Given the description of an element on the screen output the (x, y) to click on. 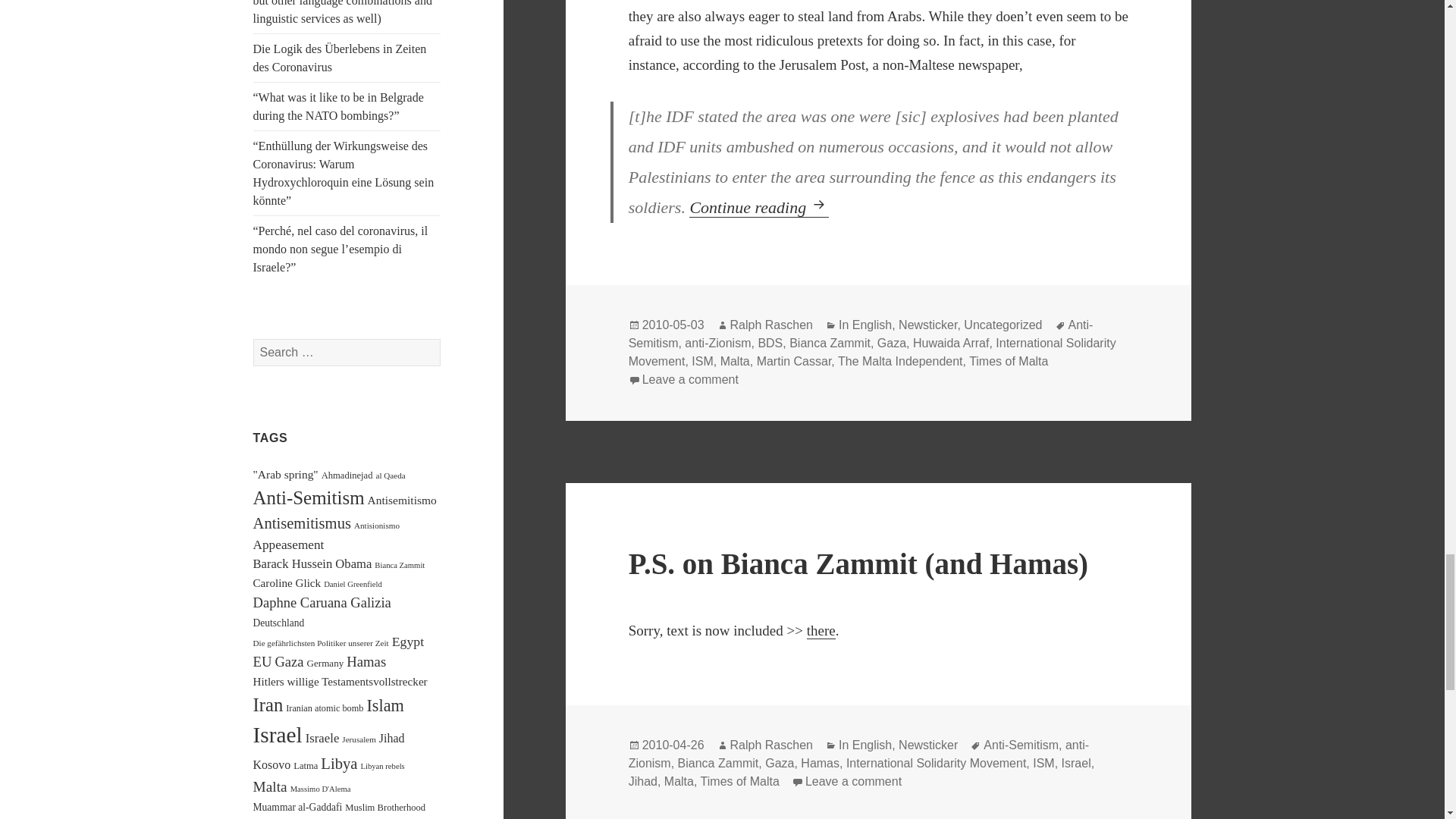
Reference (820, 630)
